Given the description of an element on the screen output the (x, y) to click on. 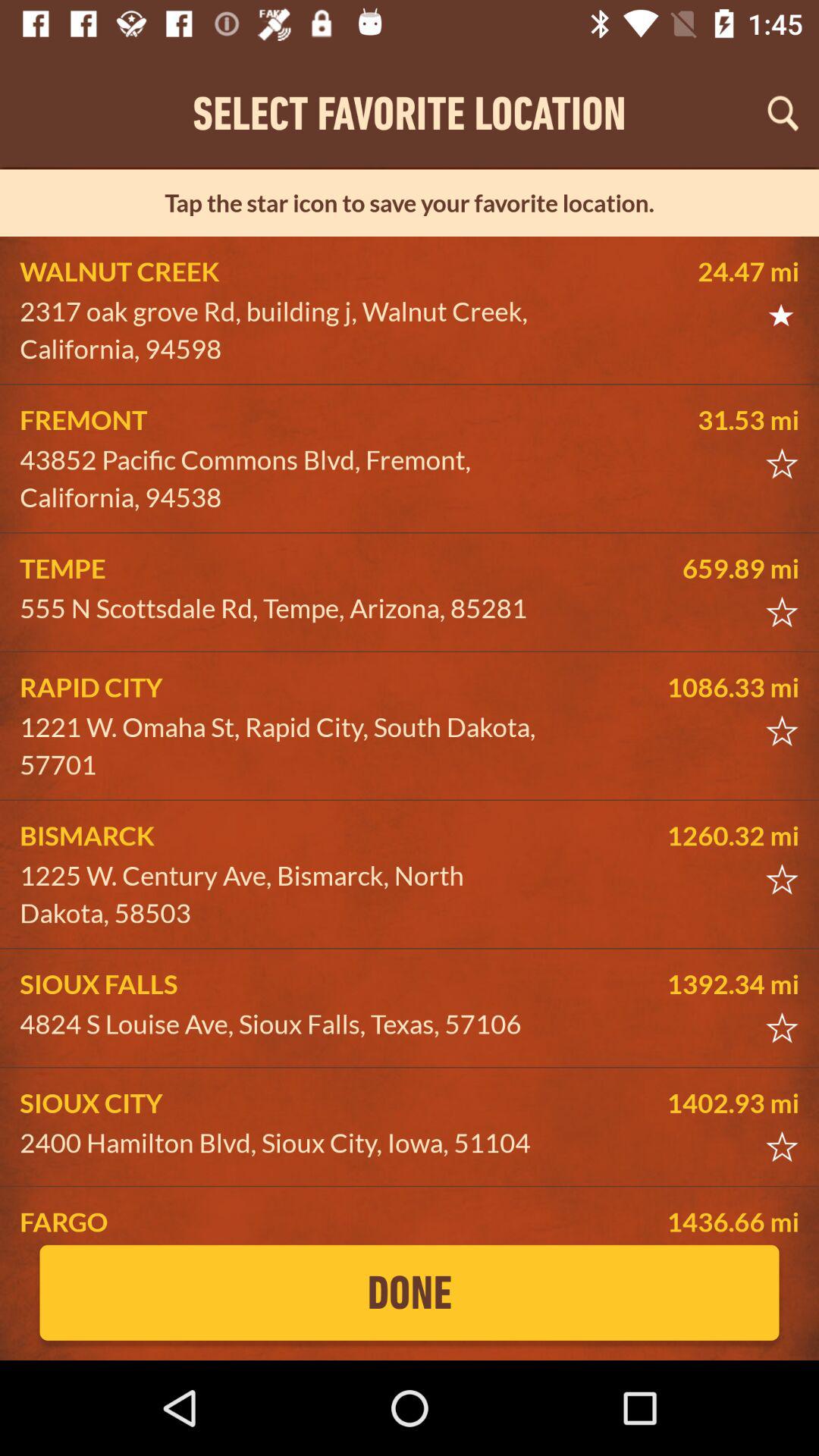
select icon below walnut creek item (285, 330)
